Given the description of an element on the screen output the (x, y) to click on. 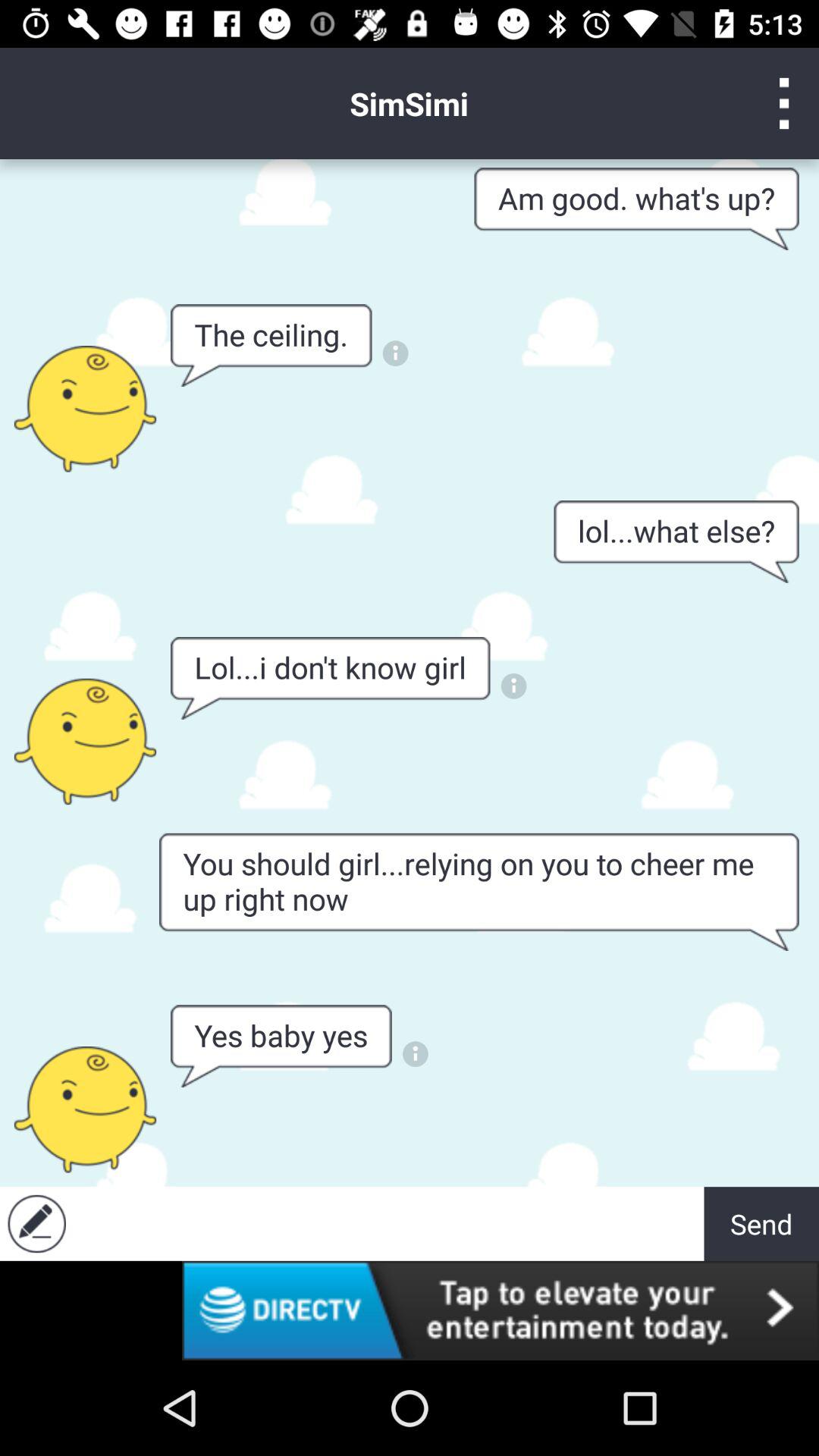
see info (513, 686)
